Given the description of an element on the screen output the (x, y) to click on. 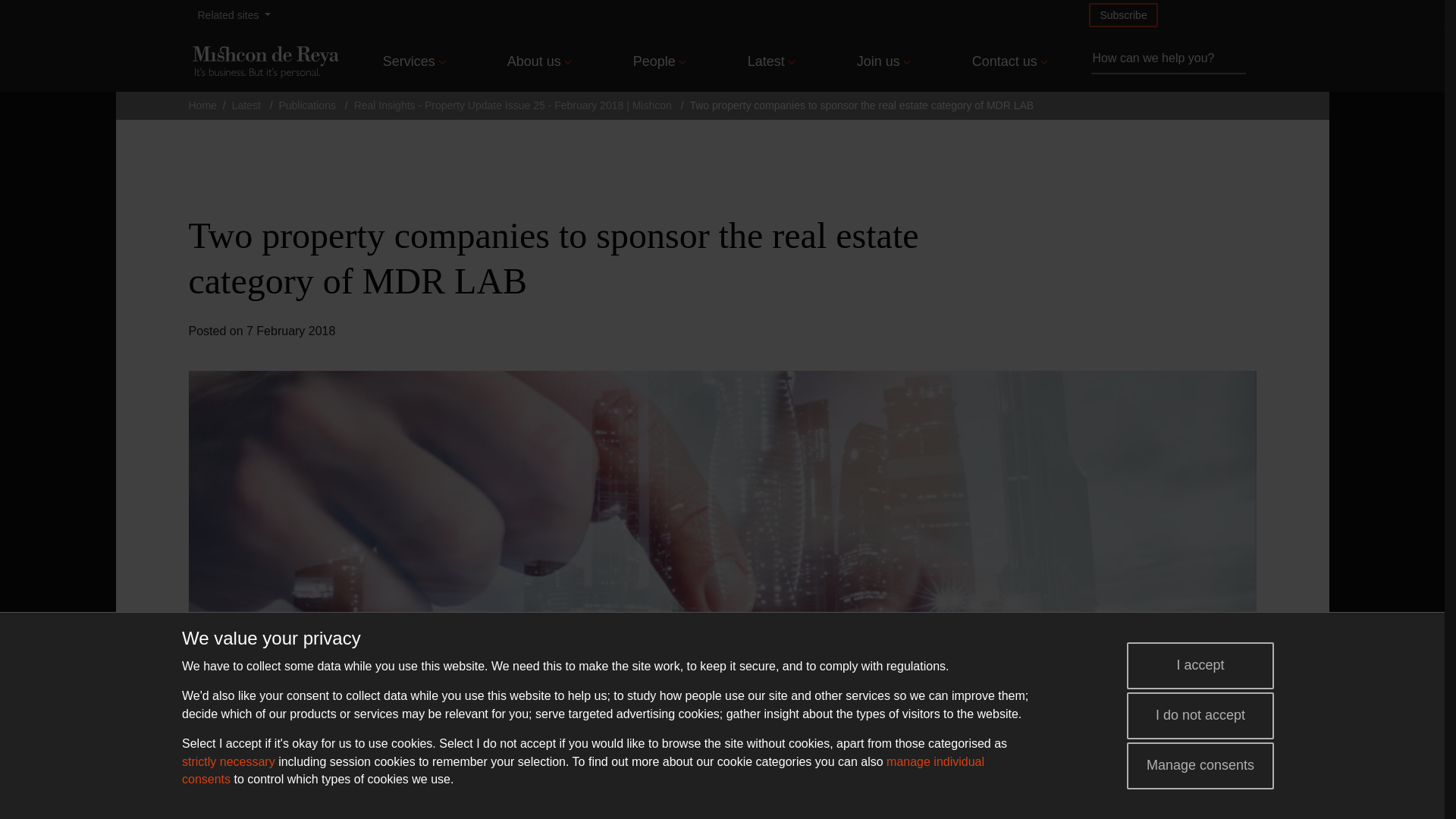
Services (414, 61)
Related sites (233, 14)
Subscribe (1123, 15)
Subscribe (1123, 15)
